Given the description of an element on the screen output the (x, y) to click on. 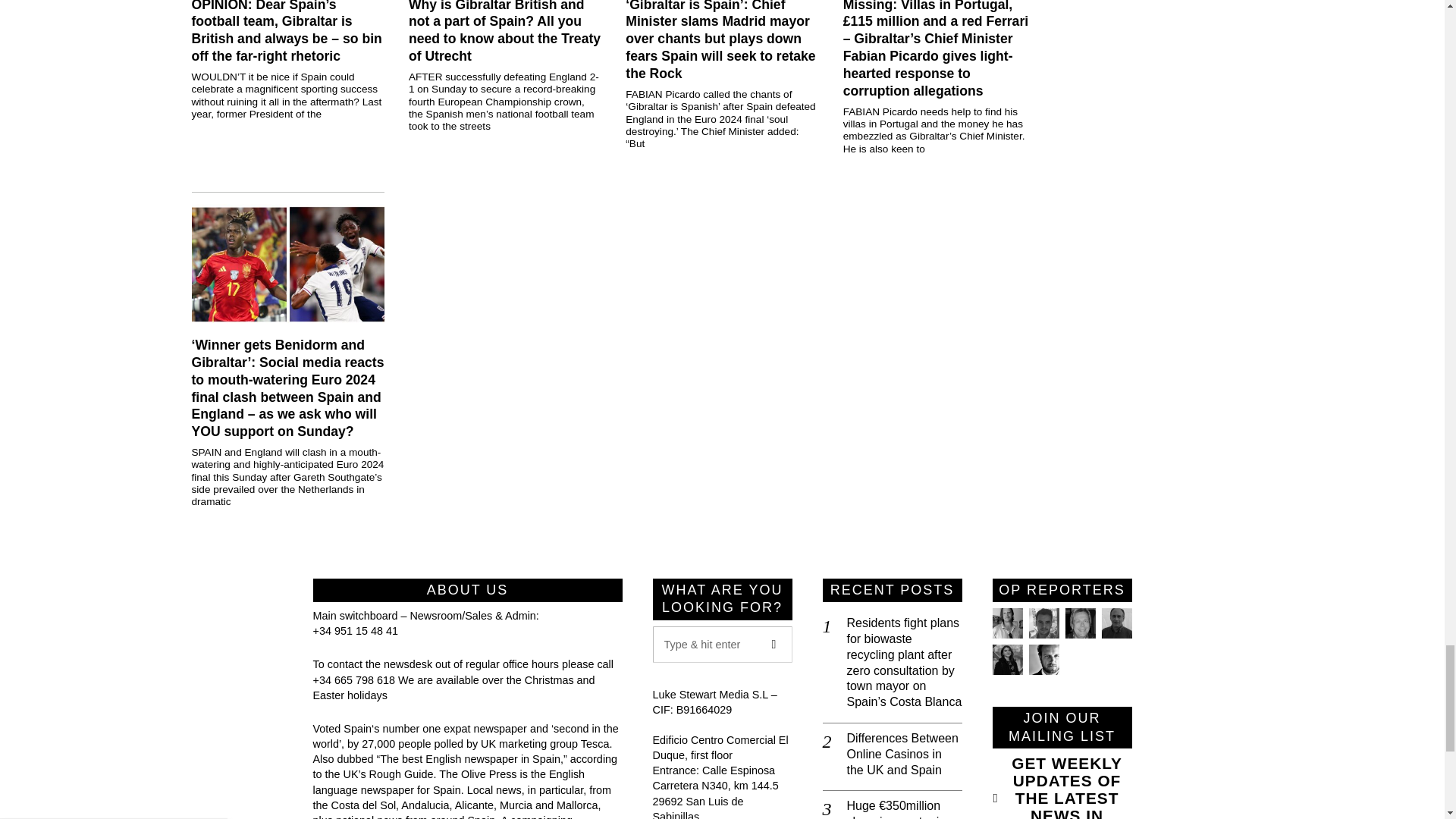
Go (773, 644)
Laurence Dollimore (1042, 623)
Dilip Kuner (1115, 623)
Alex Trelinski (1079, 623)
